Given the description of an element on the screen output the (x, y) to click on. 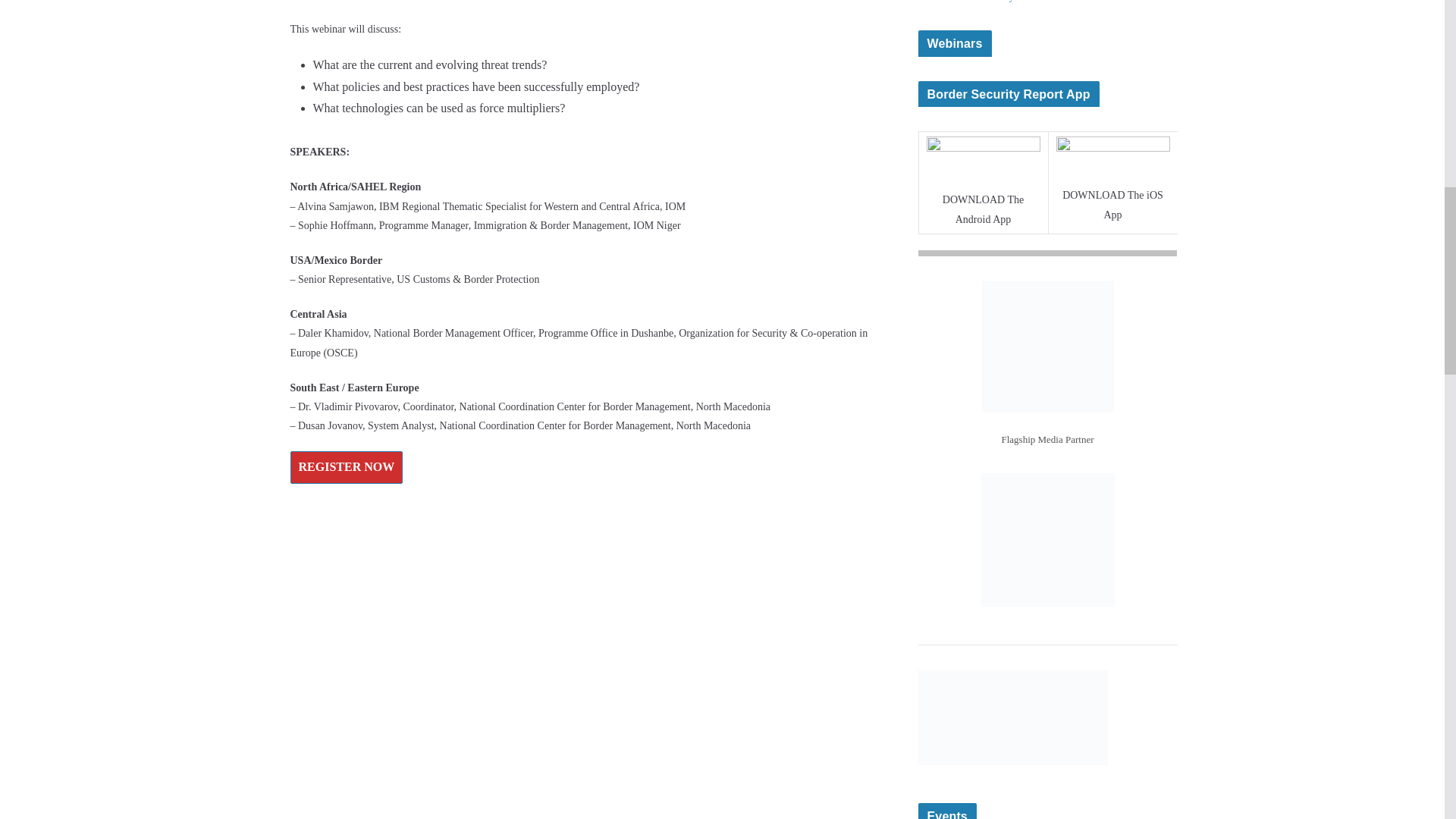
REGISTER NOW (346, 467)
